Given the description of an element on the screen output the (x, y) to click on. 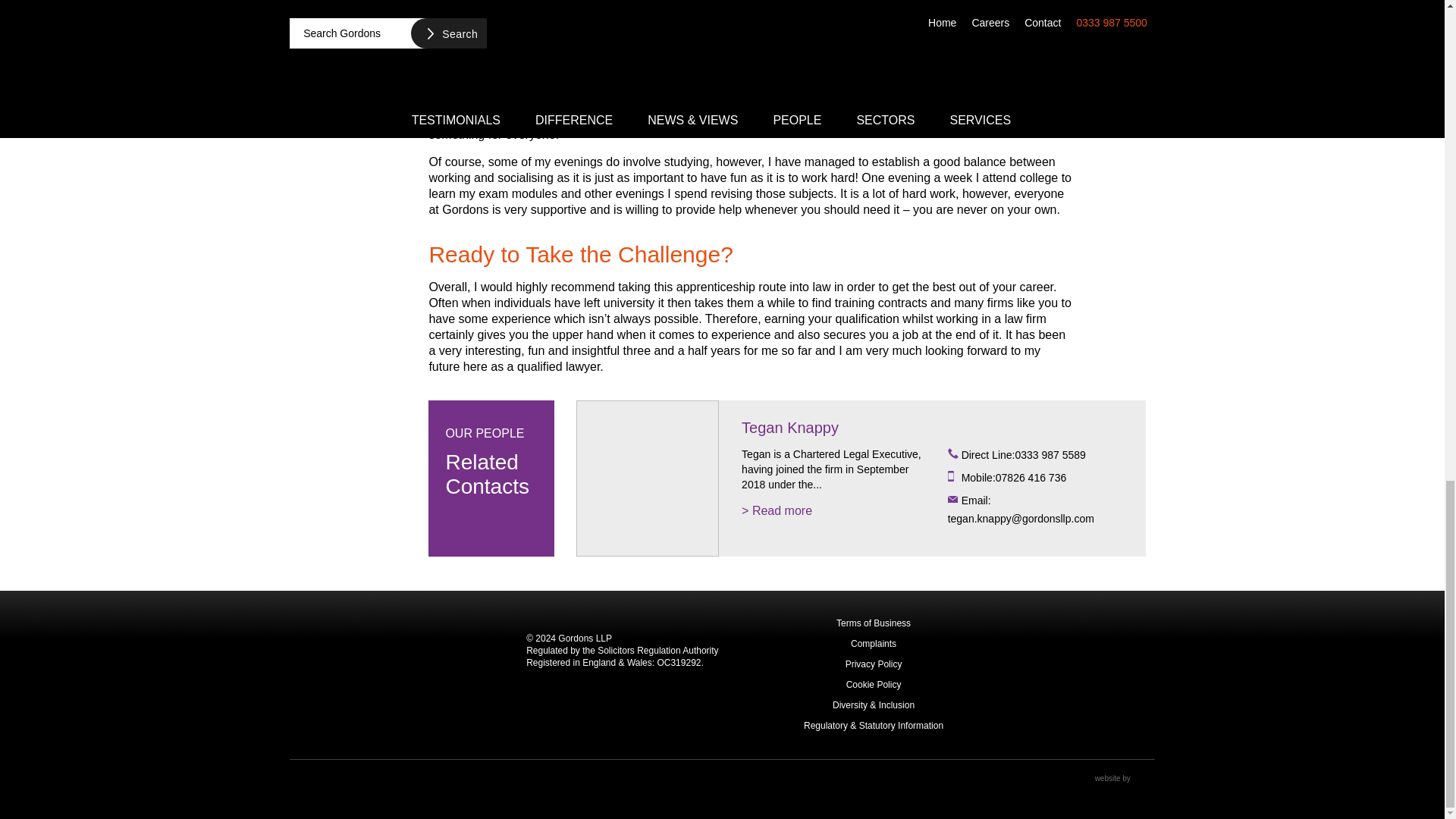
Tegan Knappy (789, 427)
Gordons LLP (402, 674)
Read more (776, 510)
Call 07826 416 736 (1039, 478)
Gordons LLP LinkedIn (298, 783)
Tegan Knappy (647, 478)
Our people (489, 460)
Solicitors regulation authority (1117, 674)
Call 0333 987 5589 (1039, 455)
